Given the description of an element on the screen output the (x, y) to click on. 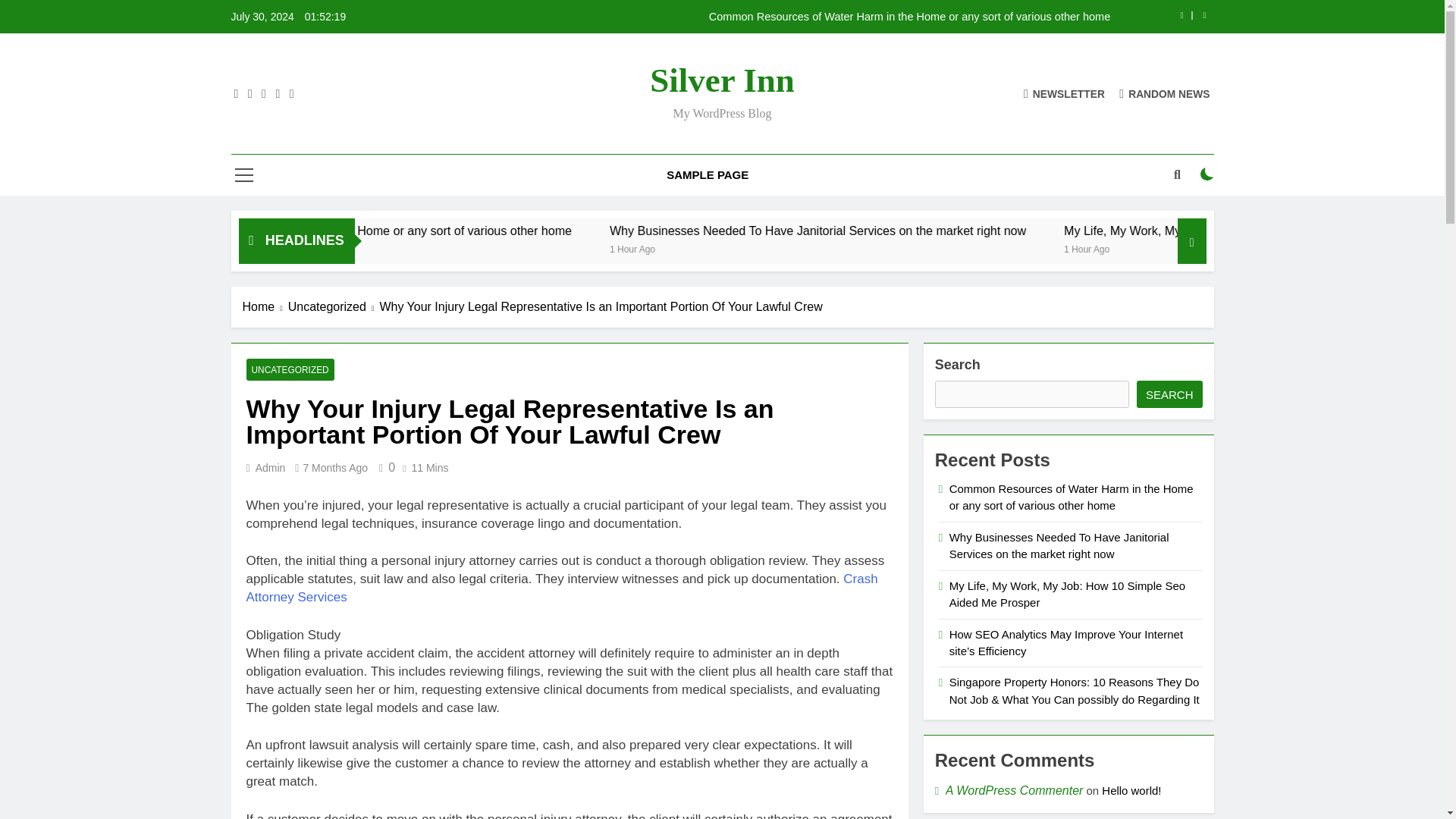
RANDOM NEWS (1164, 92)
1 Hour Ago (836, 247)
on (1206, 173)
SAMPLE PAGE (707, 174)
51 Mins Ago (359, 247)
NEWSLETTER (1064, 92)
Silver Inn (721, 80)
